Given the description of an element on the screen output the (x, y) to click on. 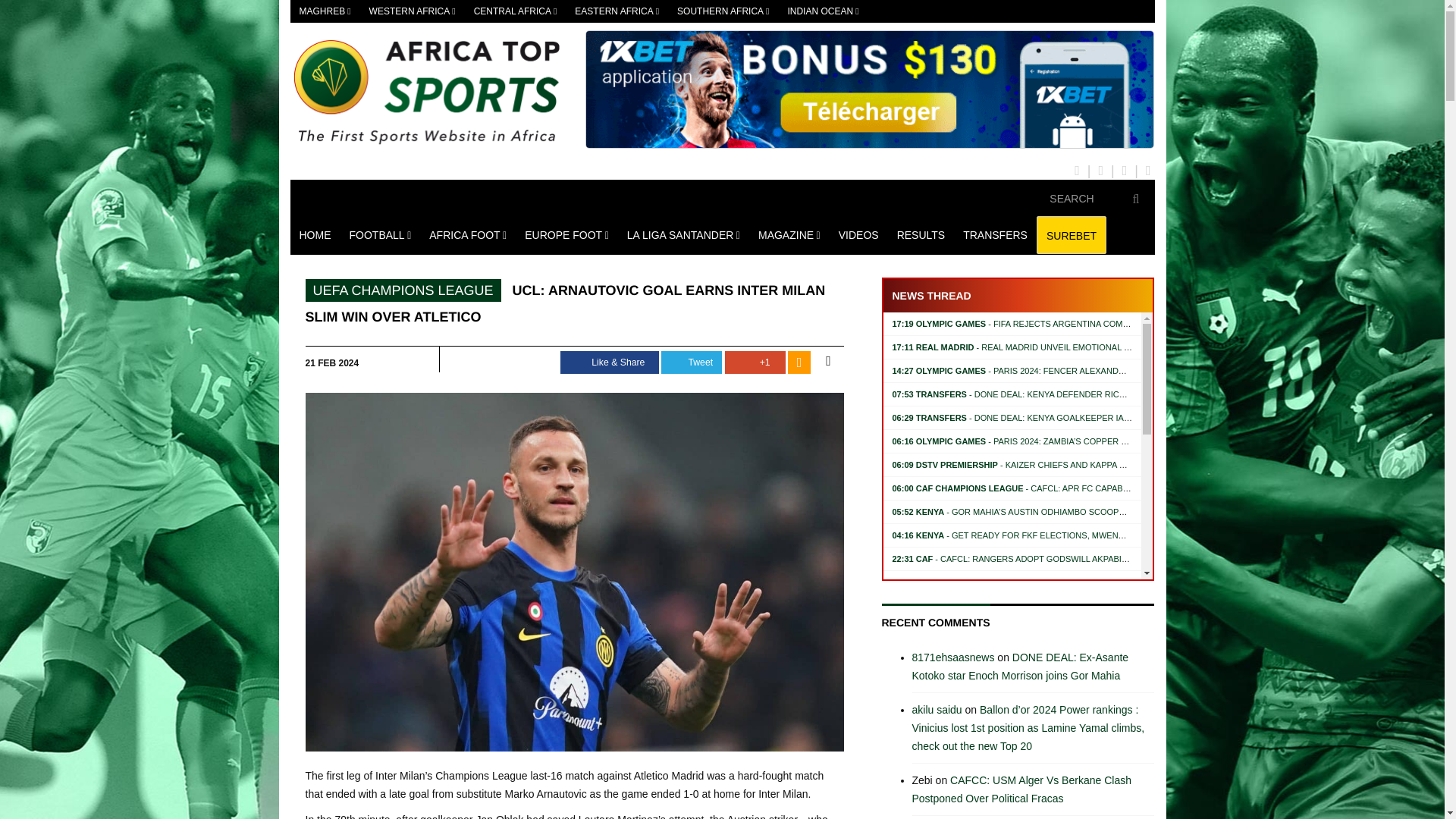
Share on Google Plus (755, 362)
Share on Facebook (609, 362)
CENTRAL AFRICA (515, 11)
ATS RSS feed (798, 362)
Mail this (827, 361)
MAGHREB (324, 11)
WESTERN AFRICA (411, 11)
1Xbet (869, 88)
EASTERN AFRICA (617, 11)
Share on Twitter (691, 362)
Real Madrid Unveil Emotional Endrick (1025, 347)
